Given the description of an element on the screen output the (x, y) to click on. 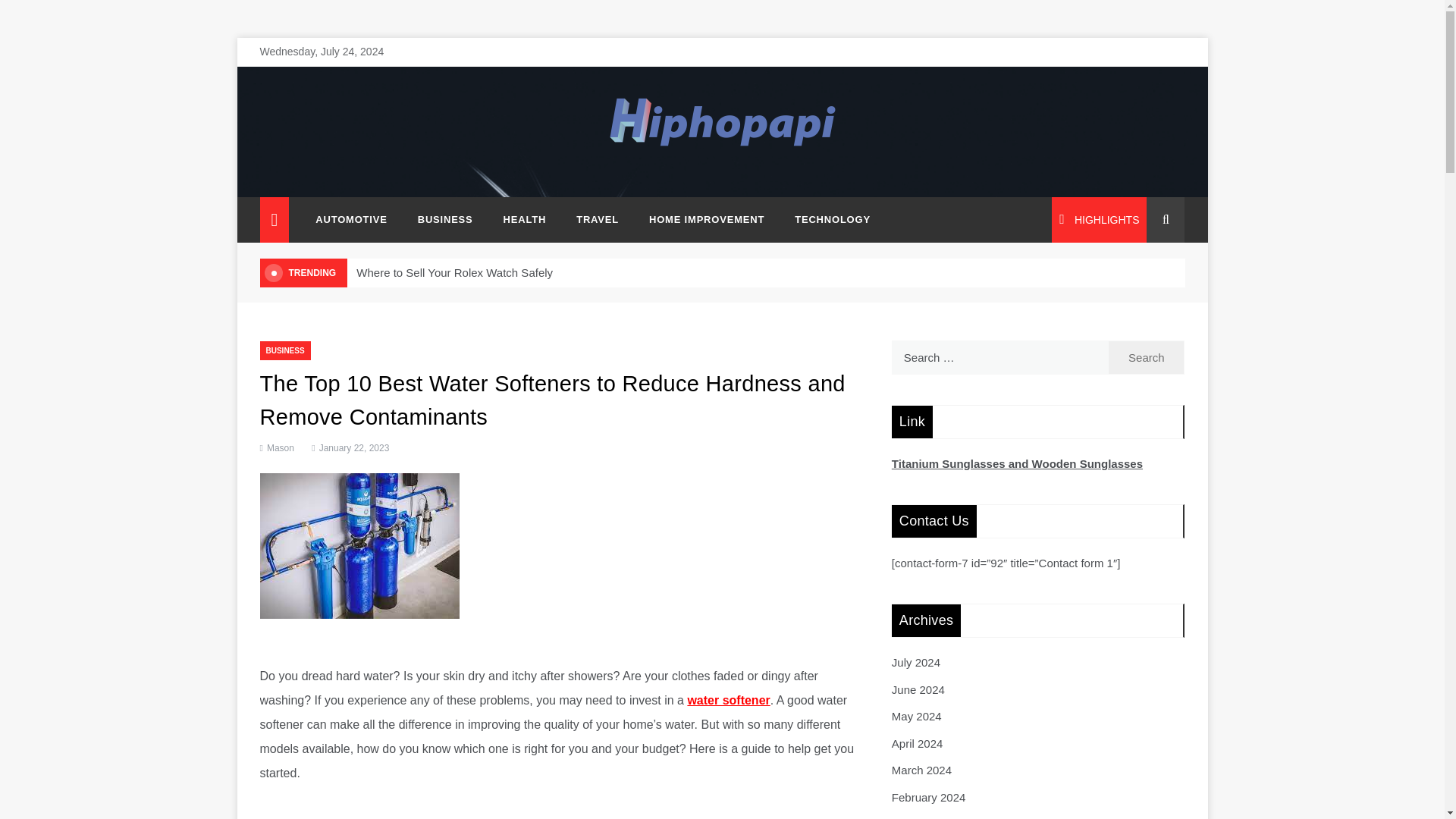
Search (1146, 357)
Search (1146, 357)
TECHNOLOGY (824, 219)
July 2024 (915, 662)
Search (1146, 357)
Where to Sell Your Rolex Watch Safely (454, 272)
HIGHLIGHTS (1099, 219)
BUSINESS (284, 350)
HOME IMPROVEMENT (705, 219)
March 2024 (921, 769)
Titanium Sunglasses and Wooden Sunglasses (1016, 463)
HEALTH (524, 219)
May 2024 (916, 716)
January 22, 2023 (348, 448)
TRAVEL (596, 219)
